Given the description of an element on the screen output the (x, y) to click on. 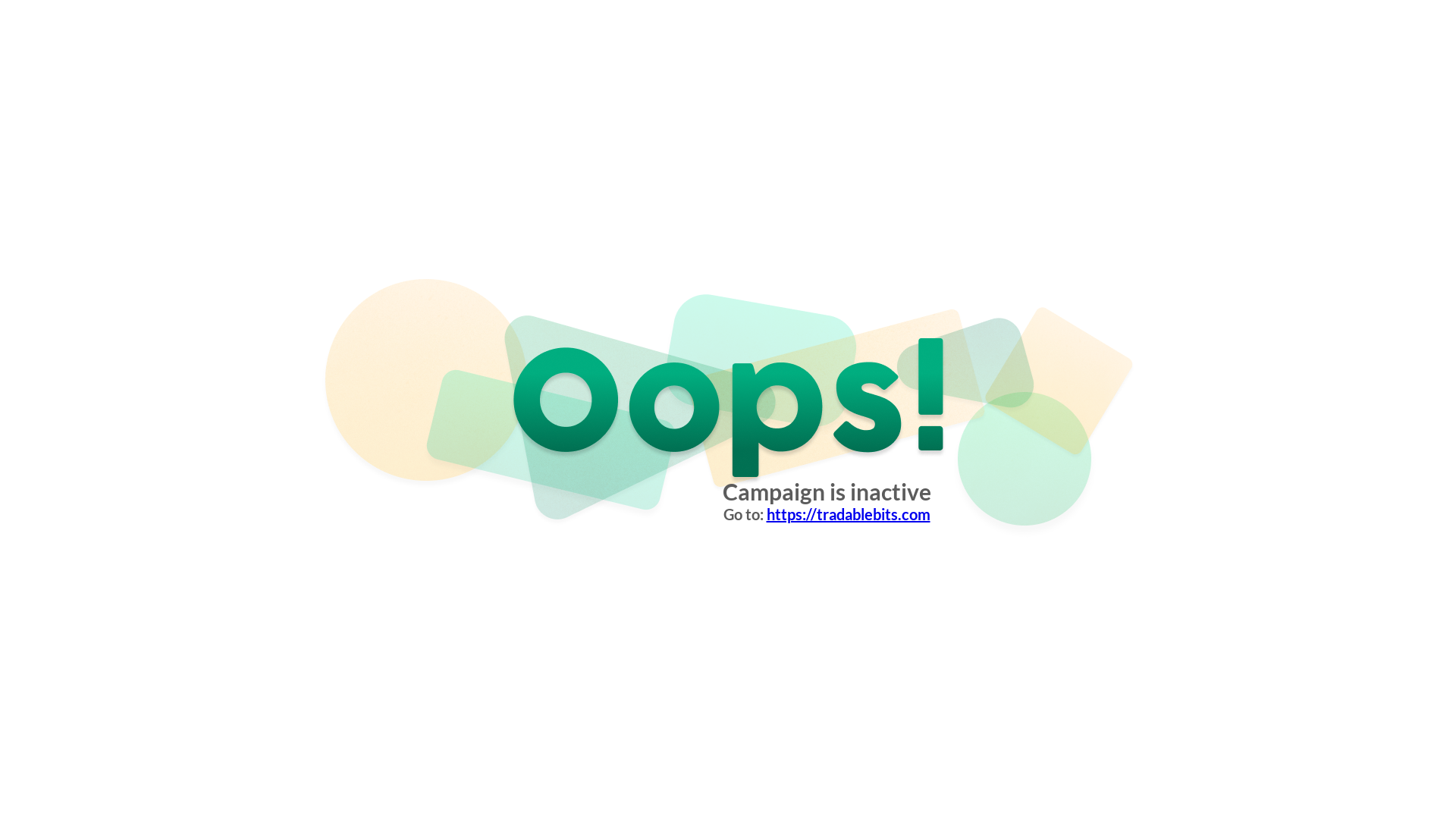
https://tradablebits.com Element type: text (847, 514)
